Given the description of an element on the screen output the (x, y) to click on. 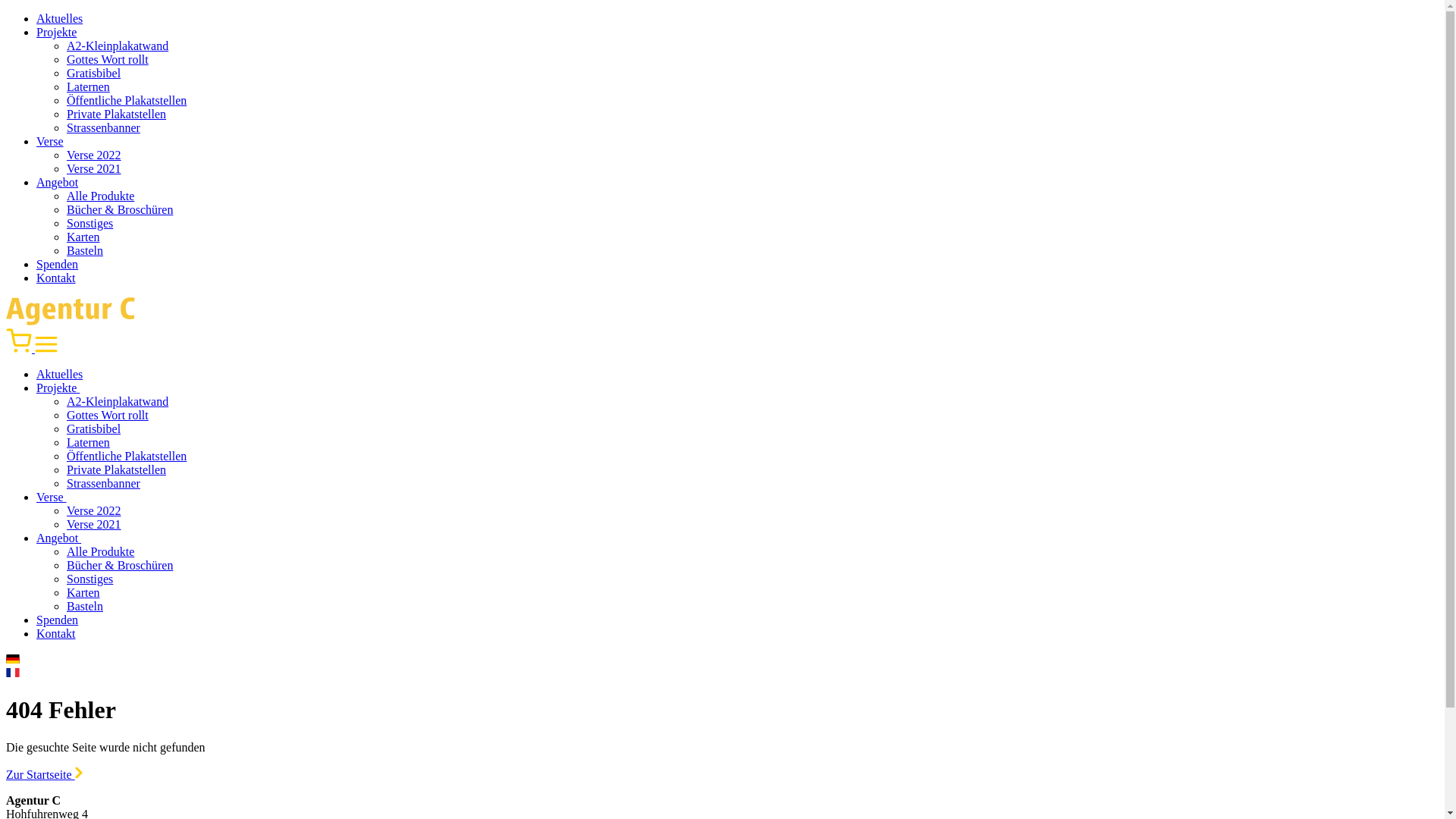
Zur Startseite Element type: text (44, 774)
Gottes Wort rollt Element type: text (107, 414)
Karten Element type: text (83, 592)
Aktuelles Element type: text (59, 18)
Verse 2021 Element type: text (93, 168)
Kontakt Element type: text (55, 277)
Verse 2022 Element type: text (93, 510)
Alle Produkte Element type: text (100, 195)
Basteln Element type: text (84, 250)
Basteln Element type: text (84, 605)
Verse 2021 Element type: text (93, 523)
Sonstiges Element type: text (89, 578)
Gratisbibel Element type: text (93, 72)
Verse Element type: text (49, 140)
Laternen Element type: text (87, 86)
Angebot Element type: text (57, 181)
A2-Kleinplakatwand Element type: text (117, 45)
Verse 2022 Element type: text (93, 154)
Verse Element type: text (58, 496)
Strassenbanner Element type: text (103, 482)
Karten Element type: text (83, 236)
Gottes Wort rollt Element type: text (107, 59)
Projekte Element type: text (65, 387)
Gratisbibel Element type: text (93, 428)
Sonstiges Element type: text (89, 222)
Spenden Element type: text (57, 263)
A2-Kleinplakatwand Element type: text (117, 401)
Alle Produkte Element type: text (100, 551)
Projekte Element type: text (56, 31)
Angebot Element type: text (66, 537)
Strassenbanner Element type: text (103, 127)
Spenden Element type: text (57, 619)
Aktuelles Element type: text (59, 373)
Private Plakatstellen Element type: text (116, 469)
Kontakt Element type: text (55, 633)
Private Plakatstellen Element type: text (116, 113)
Laternen Element type: text (87, 442)
